Given the description of an element on the screen output the (x, y) to click on. 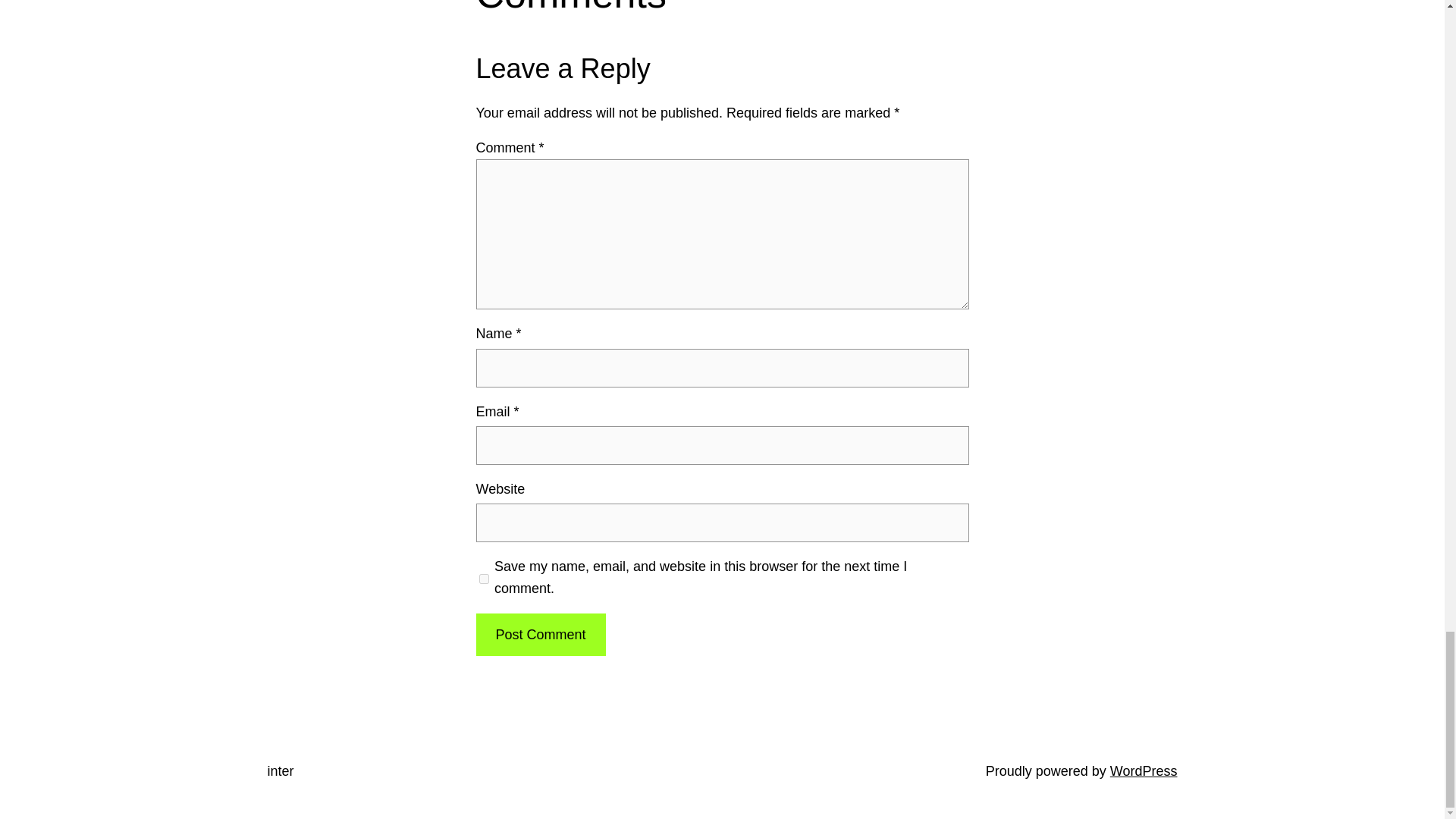
inter (280, 770)
Post Comment (540, 634)
WordPress (1143, 770)
Post Comment (540, 634)
